Given the description of an element on the screen output the (x, y) to click on. 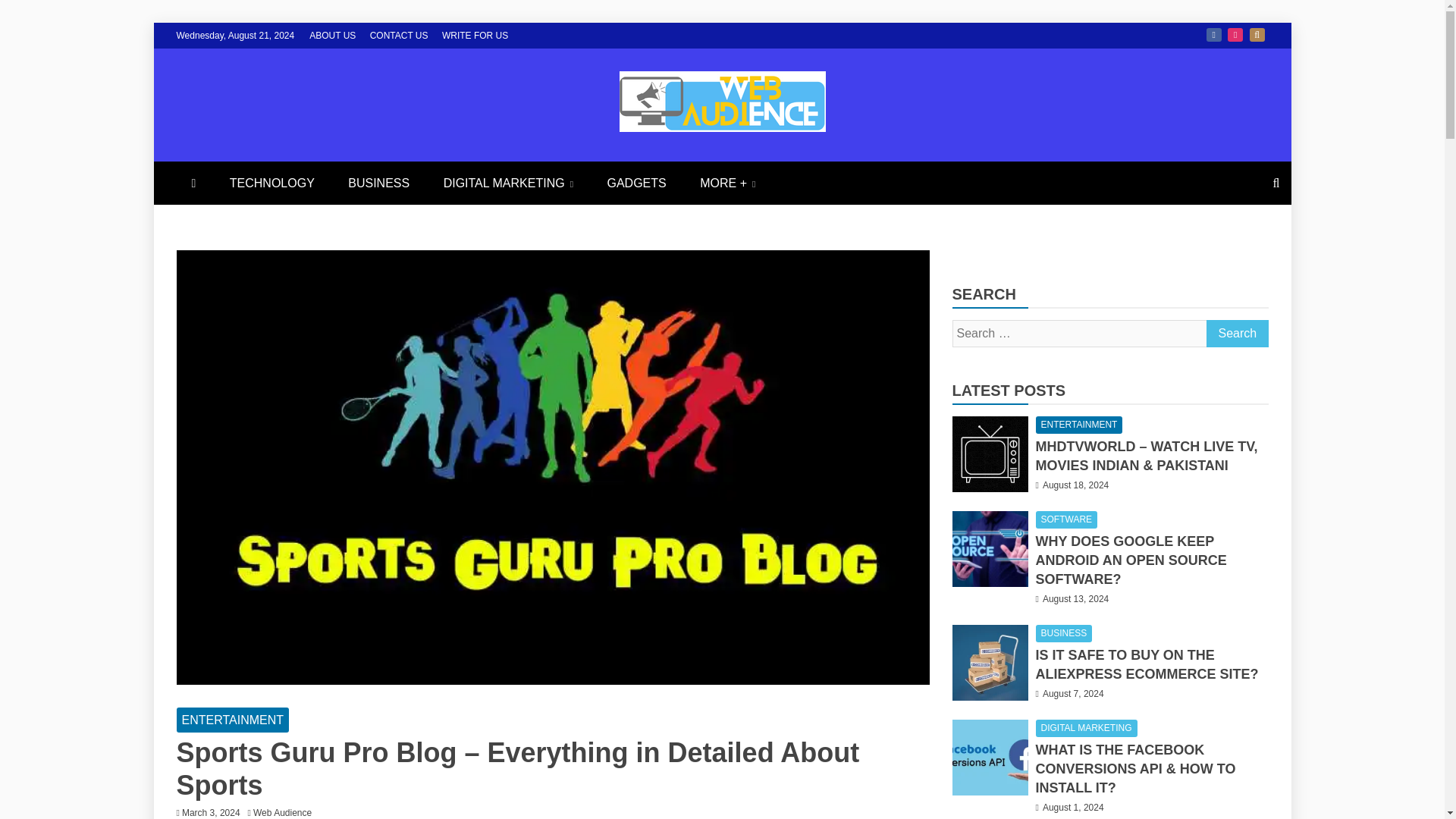
March 3, 2024 (211, 812)
Twitter (1257, 34)
Facebook (1214, 34)
WEBAUDIENCE (363, 167)
Instagram (1235, 34)
CONTACT US (398, 35)
DIGITAL MARKETING (508, 182)
GADGETS (636, 182)
ABOUT US (331, 35)
